Given the description of an element on the screen output the (x, y) to click on. 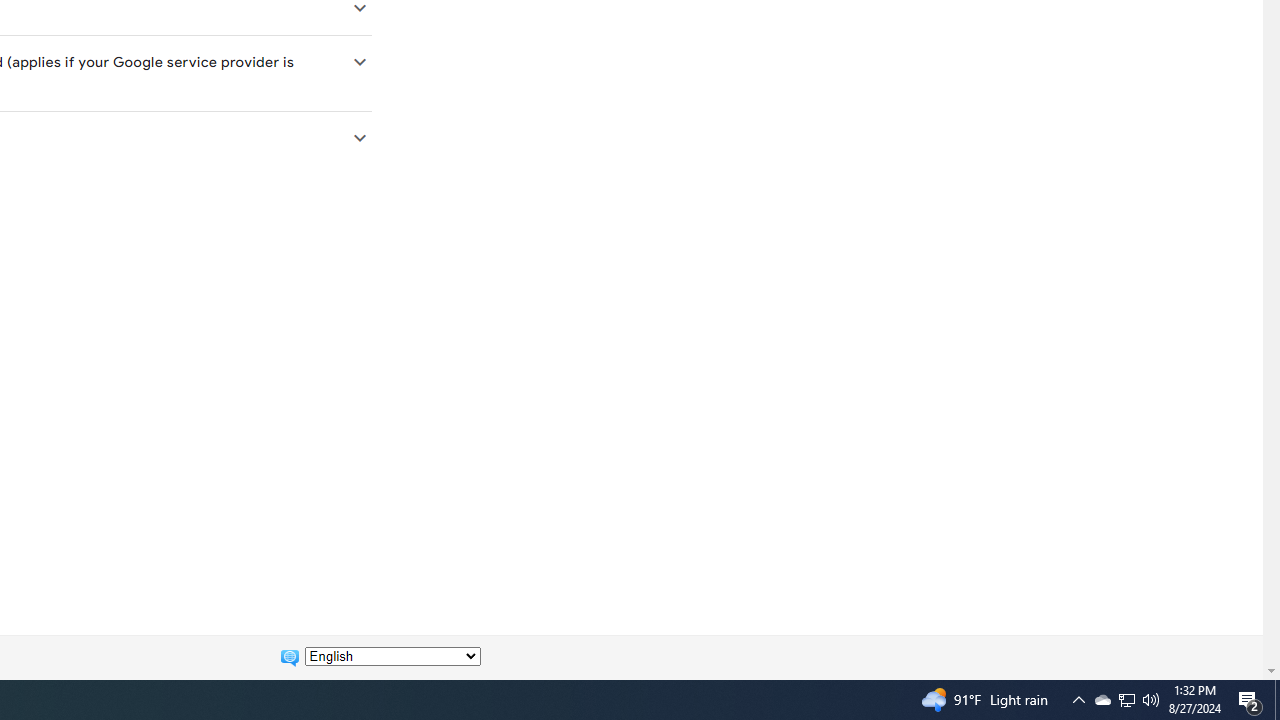
Change language: (392, 656)
